Given the description of an element on the screen output the (x, y) to click on. 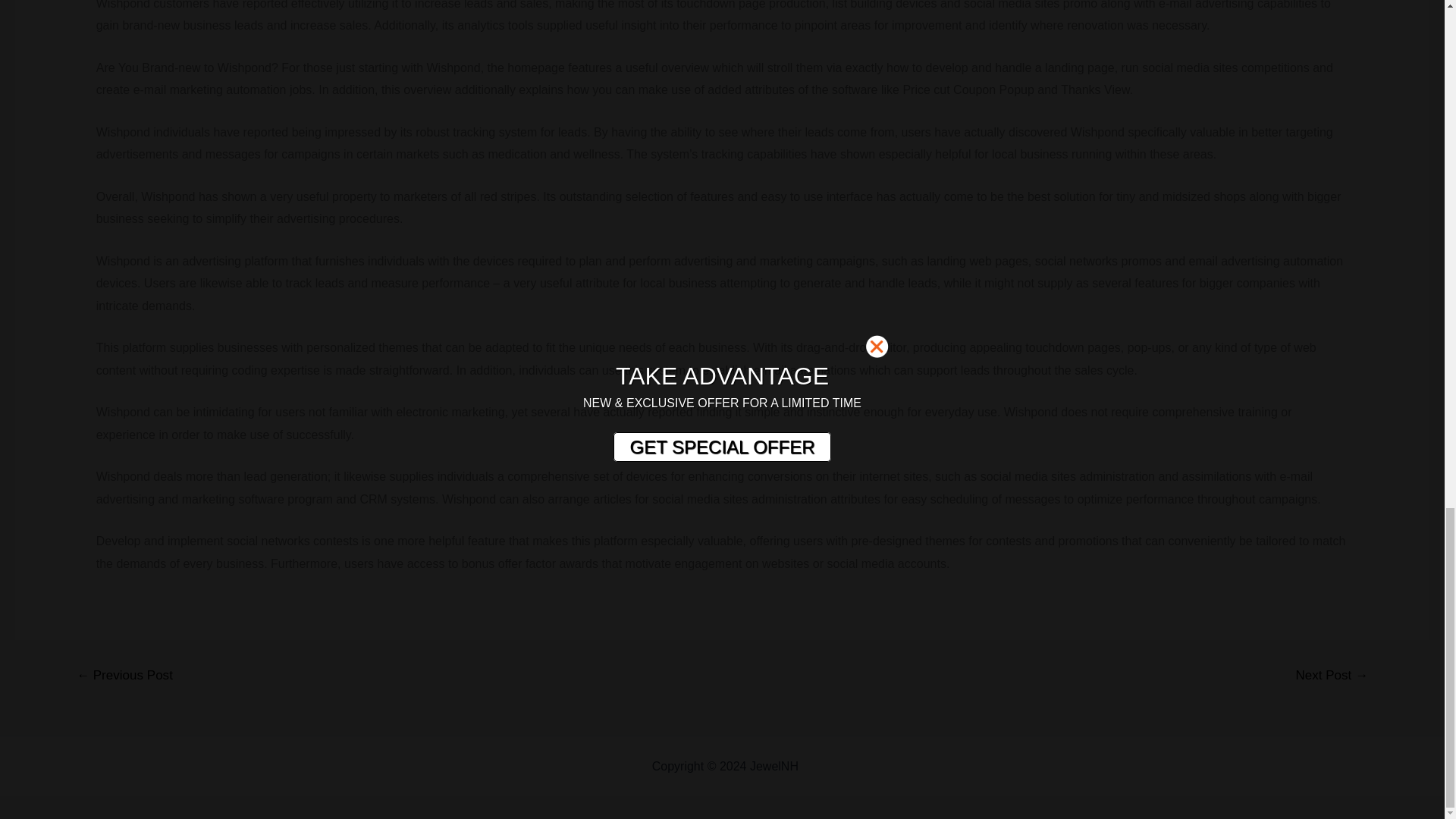
Sitemap (823, 766)
